Given the description of an element on the screen output the (x, y) to click on. 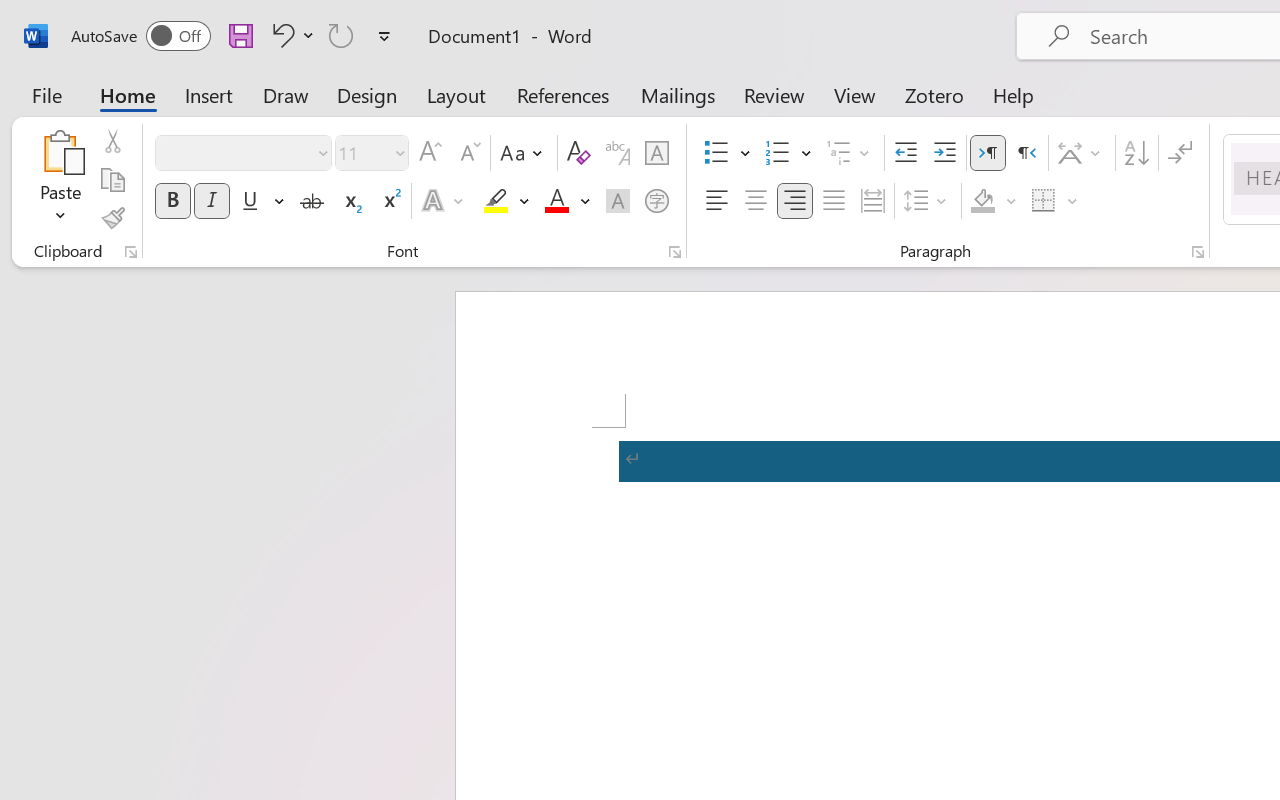
Shading No Color (982, 201)
